Given the description of an element on the screen output the (x, y) to click on. 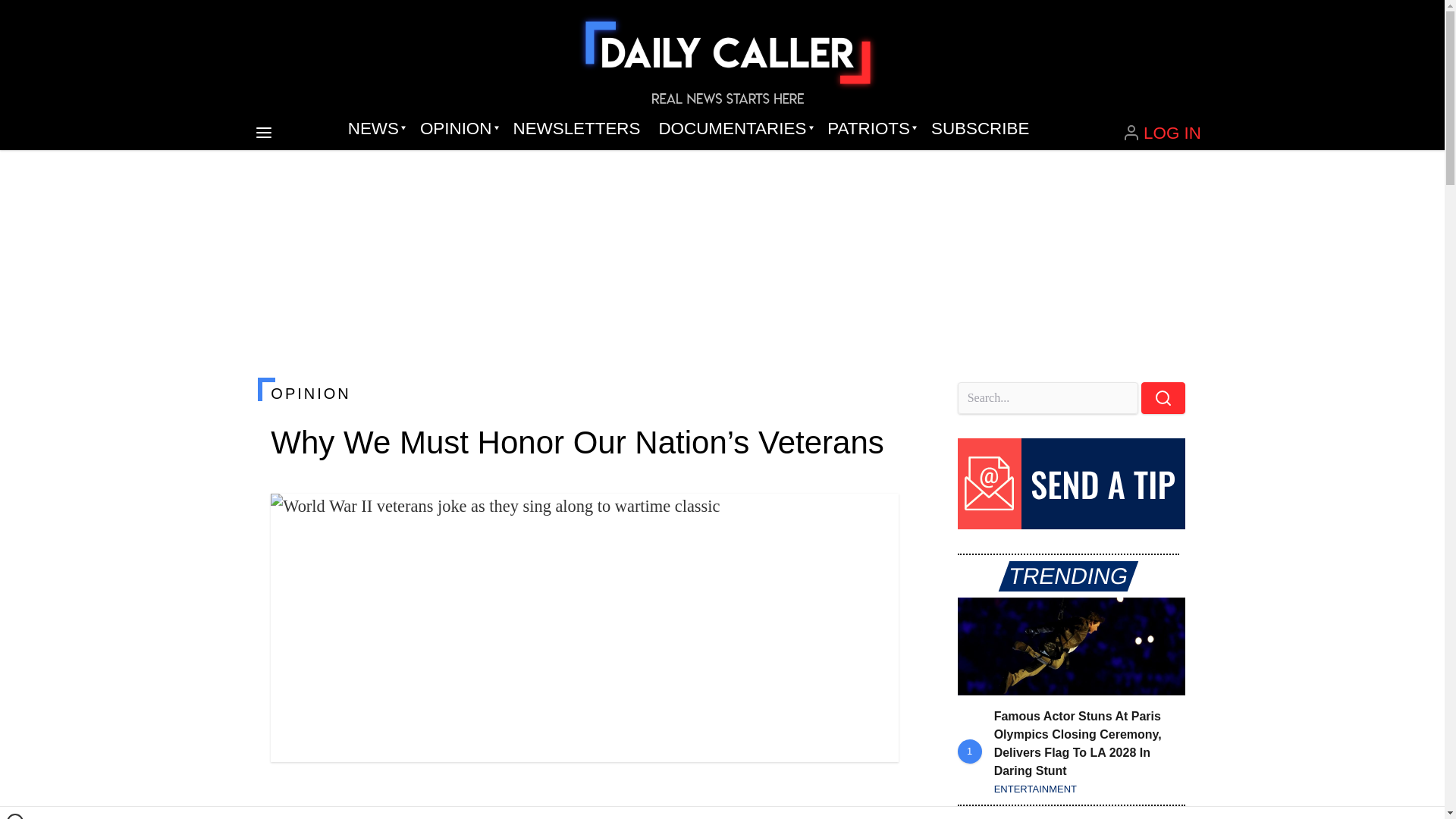
OPINION (456, 128)
NEWSLETTERS (576, 128)
Toggle fullscreen (874, 517)
SUBSCRIBE (979, 128)
NEWS (374, 128)
PATRIOTS (869, 128)
OPINION (584, 393)
DOCUMENTARIES (733, 128)
